Given the description of an element on the screen output the (x, y) to click on. 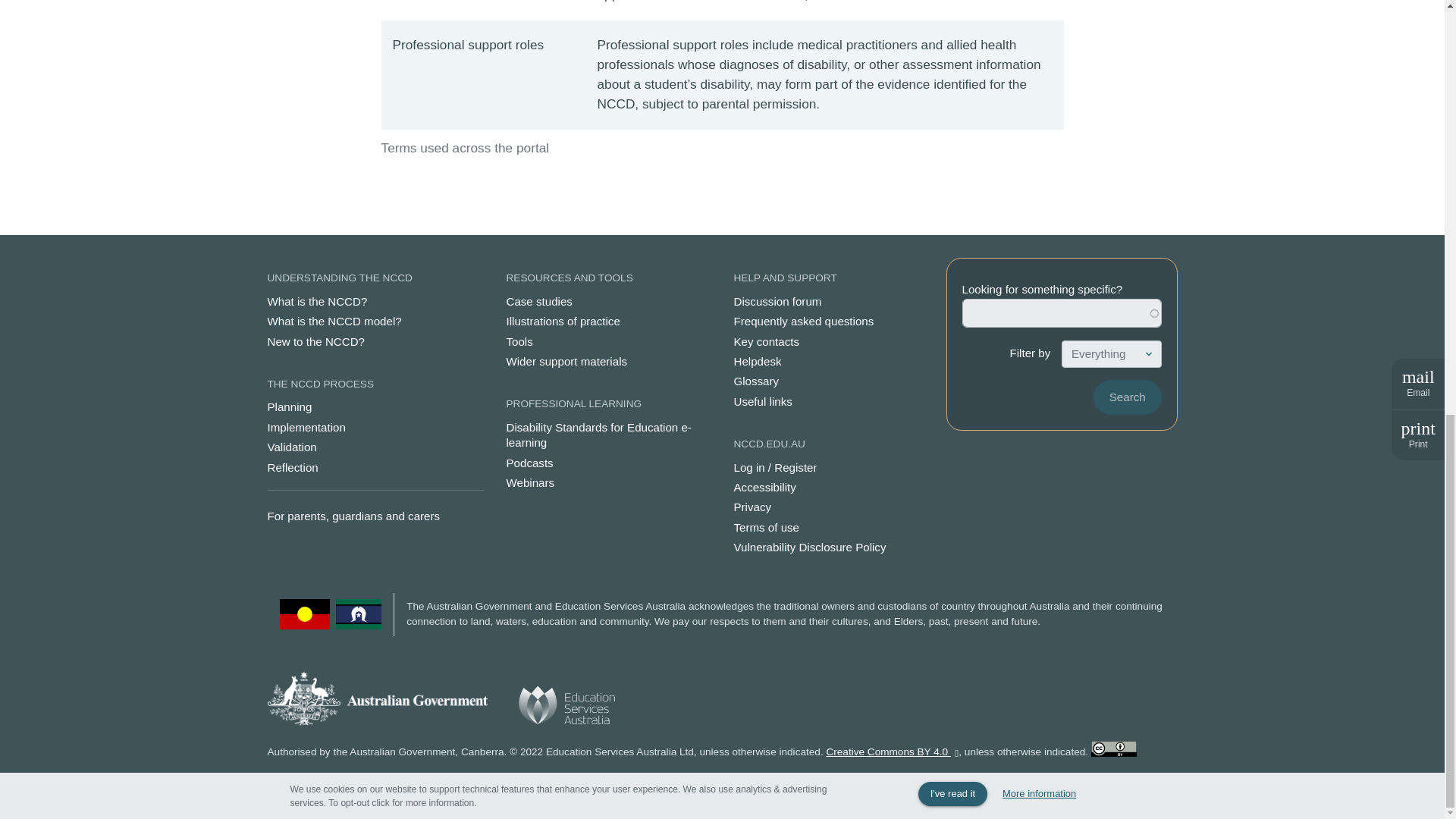
Opens in a new window (891, 751)
Vulnerability Disclosure Policy (836, 547)
